Given the description of an element on the screen output the (x, y) to click on. 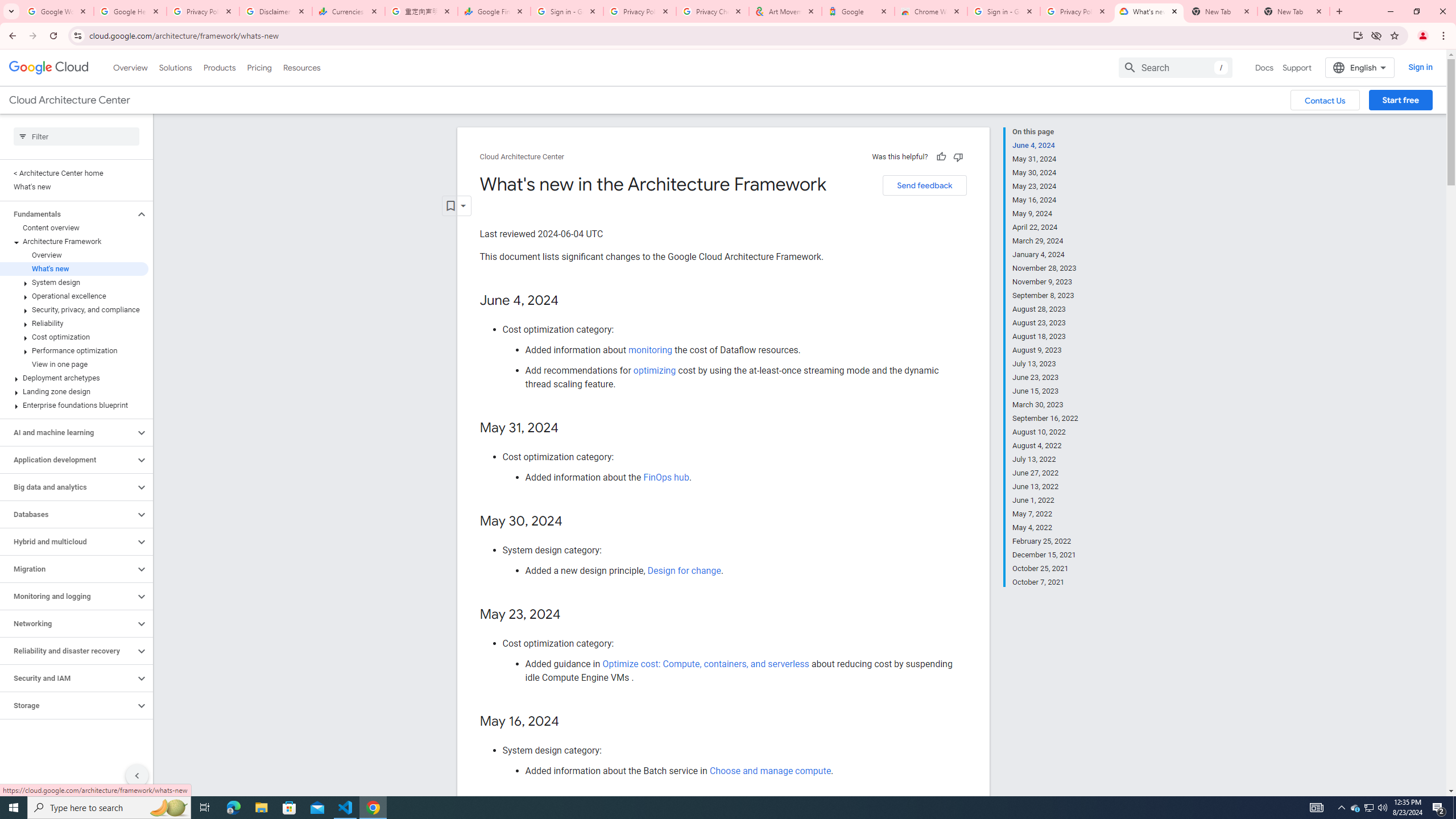
Copy link to this section: May 31, 2024 (570, 428)
Fundamentals (67, 214)
Choose and manage compute (770, 770)
January 4, 2024 (1044, 254)
November 9, 2023 (1044, 282)
Operational excellence (74, 296)
Products (218, 67)
Landing zone design (74, 391)
Application development (67, 459)
Resources (301, 67)
Security and IAM (67, 678)
November 28, 2023 (1044, 268)
